Given the description of an element on the screen output the (x, y) to click on. 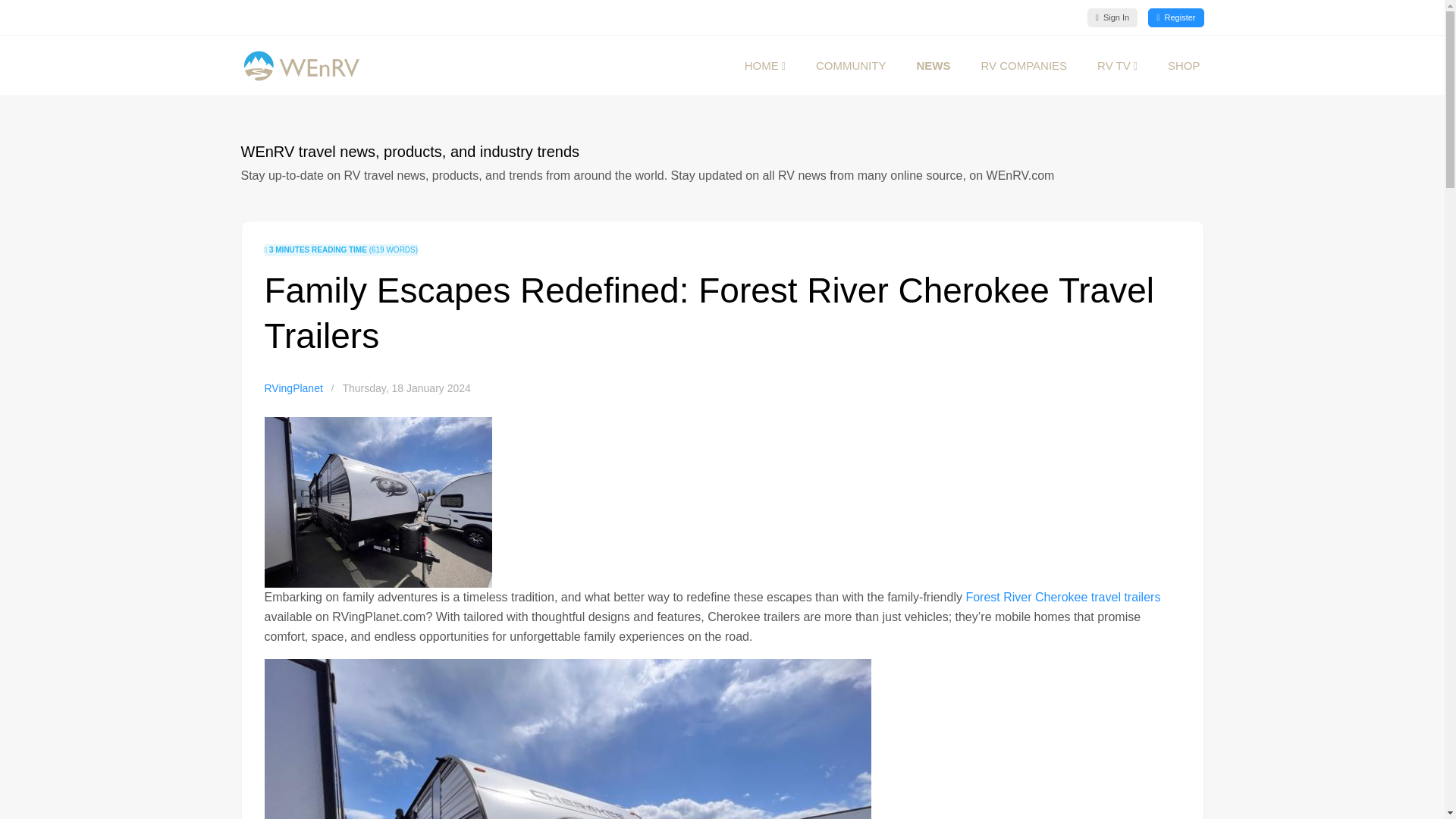
RV COMPANIES (1023, 66)
WEnRV Social News Network (850, 66)
  Sign In (1112, 17)
RVingPlanet (292, 387)
COMMUNITY (850, 66)
NEWS (933, 66)
RV TV (1117, 66)
HOME (764, 66)
SHOP (1184, 66)
  Register (1176, 17)
Forest River Cherokee travel trailers (1061, 596)
RV TV (1117, 66)
Shop our partner, RecPro.com (1184, 66)
